Given the description of an element on the screen output the (x, y) to click on. 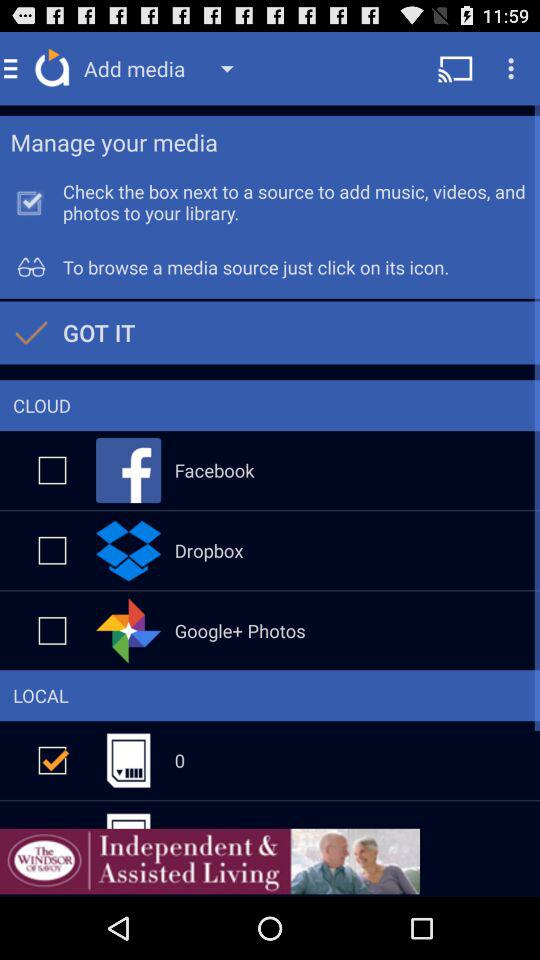
select option (52, 550)
